Given the description of an element on the screen output the (x, y) to click on. 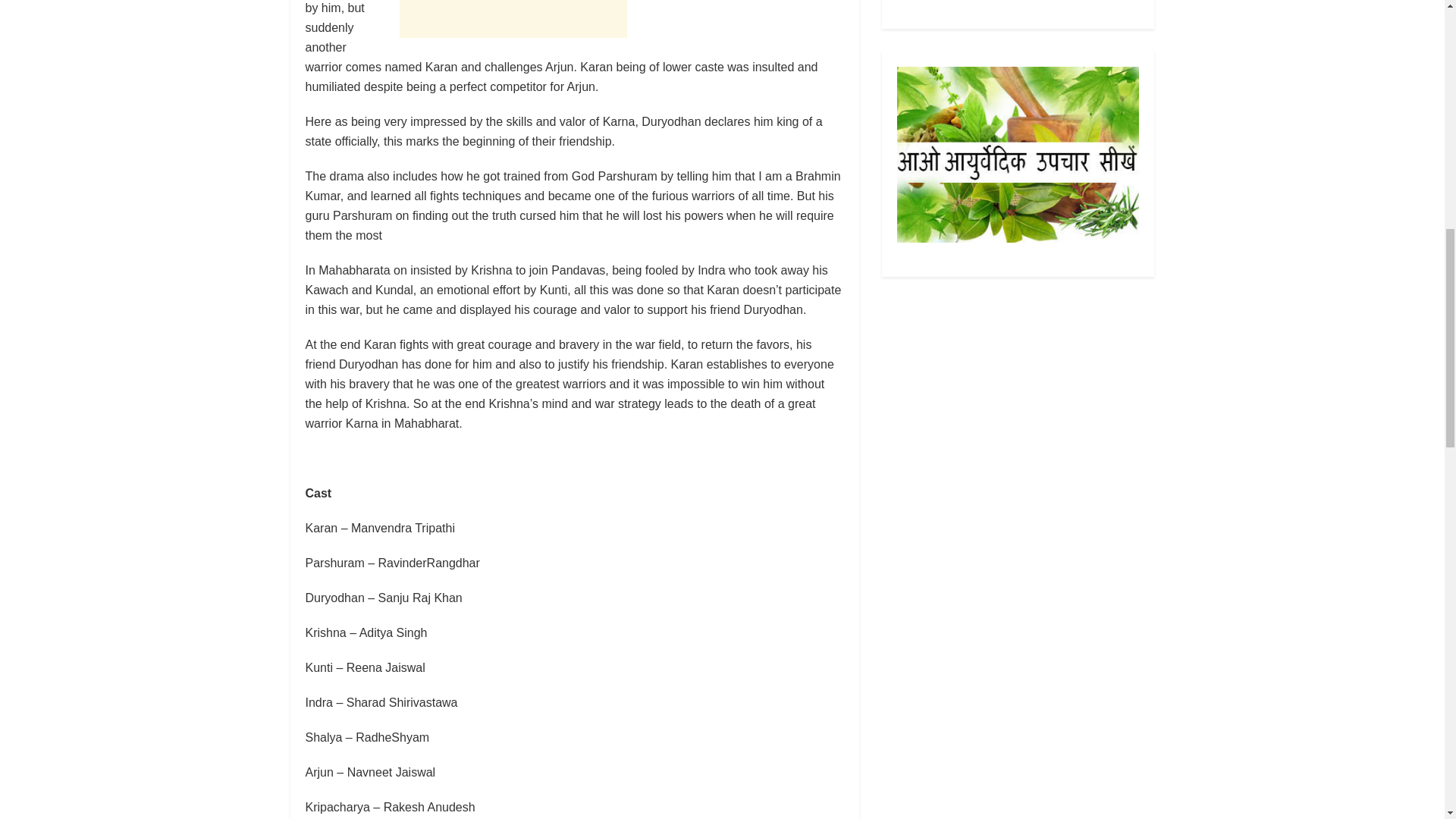
Advertisement (512, 18)
